Given the description of an element on the screen output the (x, y) to click on. 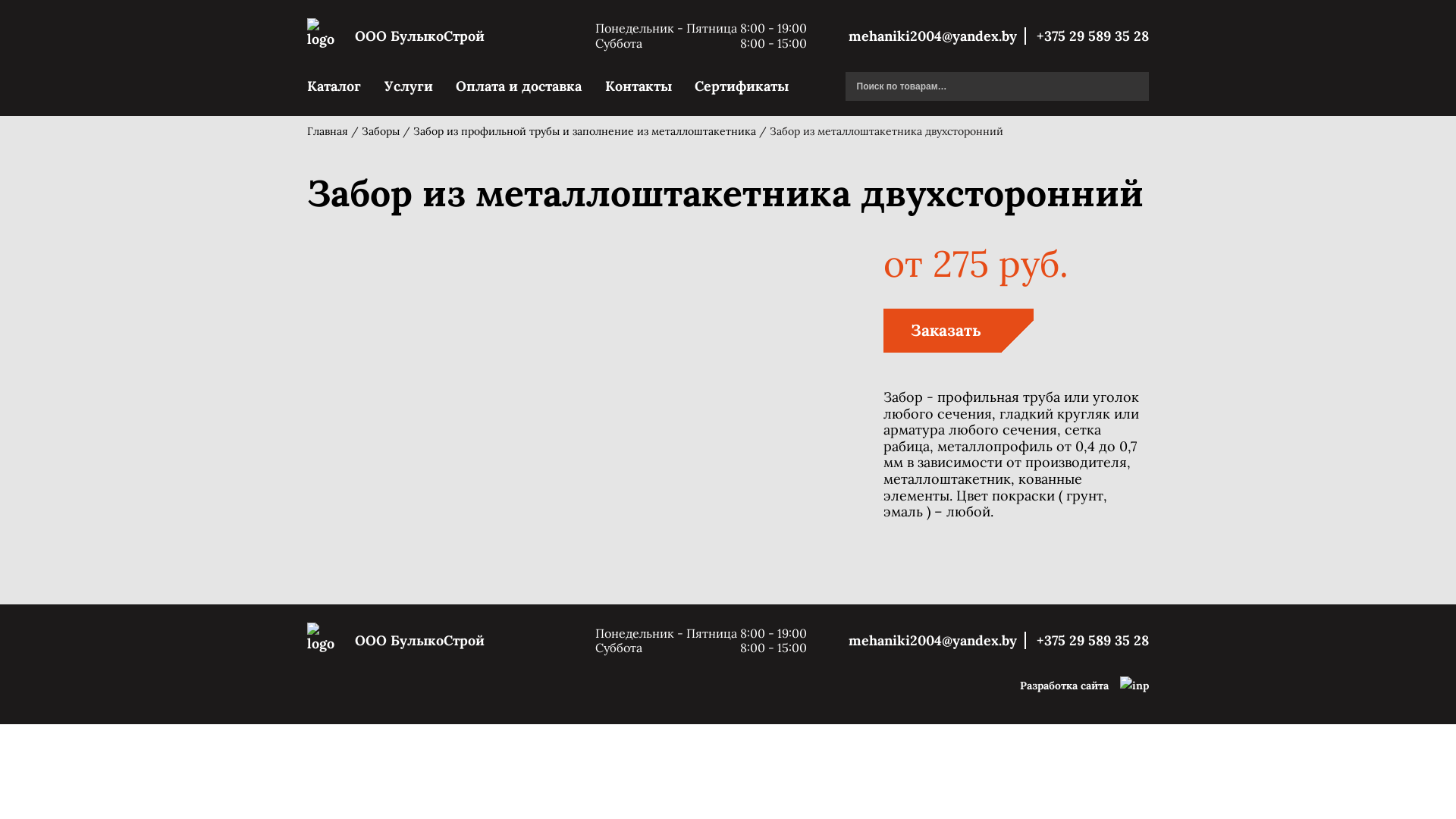
mehaniki2004@yandex.by Element type: text (937, 640)
+375 29 589 35 28 Element type: text (1088, 35)
+375 29 589 35 28 Element type: text (1088, 640)
mehaniki2004@yandex.by Element type: text (937, 35)
